Given the description of an element on the screen output the (x, y) to click on. 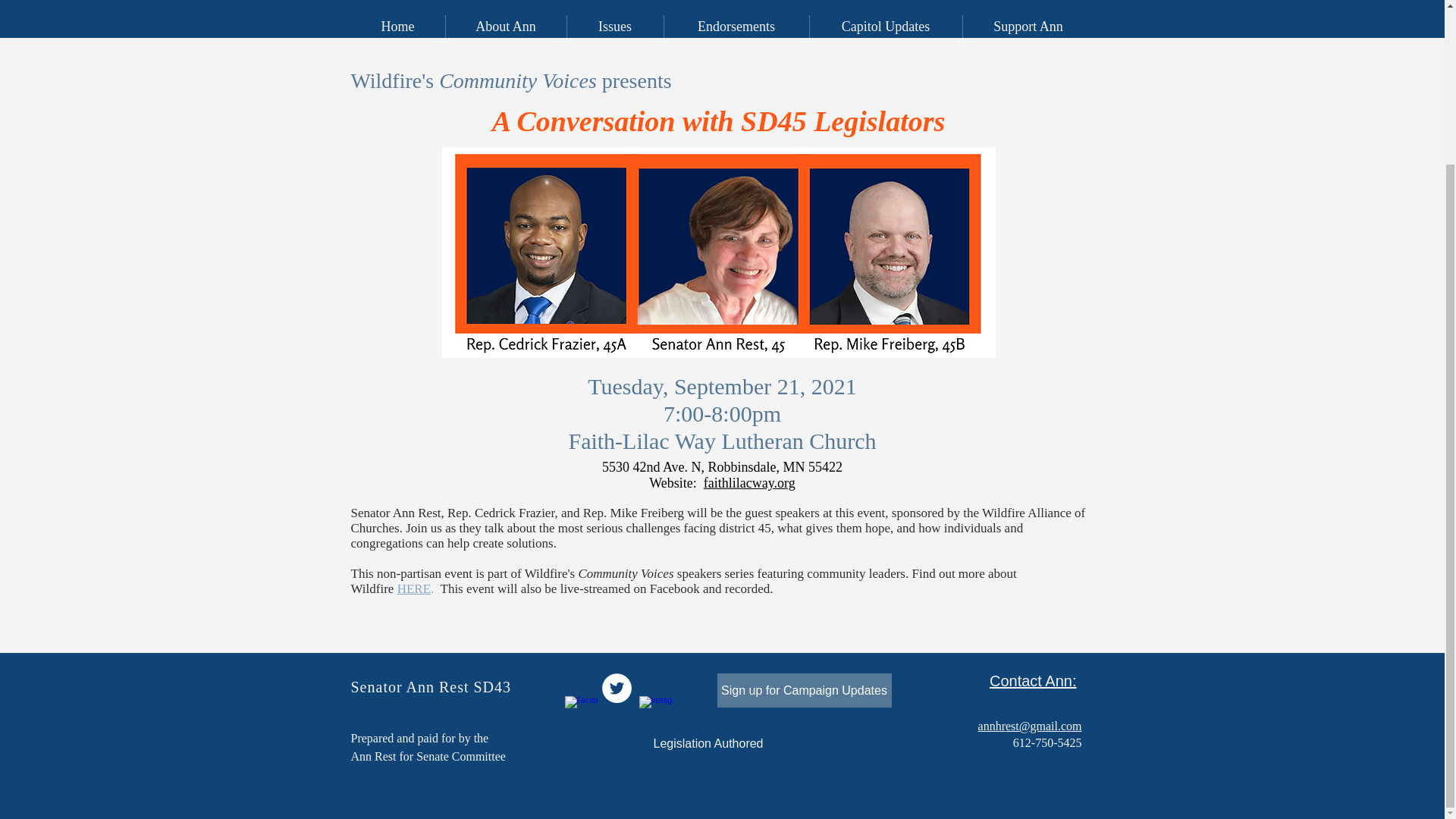
faithlilacway.org (748, 482)
About Ann (505, 26)
Sign up for Campaign Updates (804, 690)
Legislation Authored (707, 743)
Issues (614, 26)
Contact Ann: (1033, 680)
Endorsements (735, 26)
Capitol Updates (884, 26)
Support Ann (1026, 26)
Home (397, 26)
HERE (413, 588)
